Given the description of an element on the screen output the (x, y) to click on. 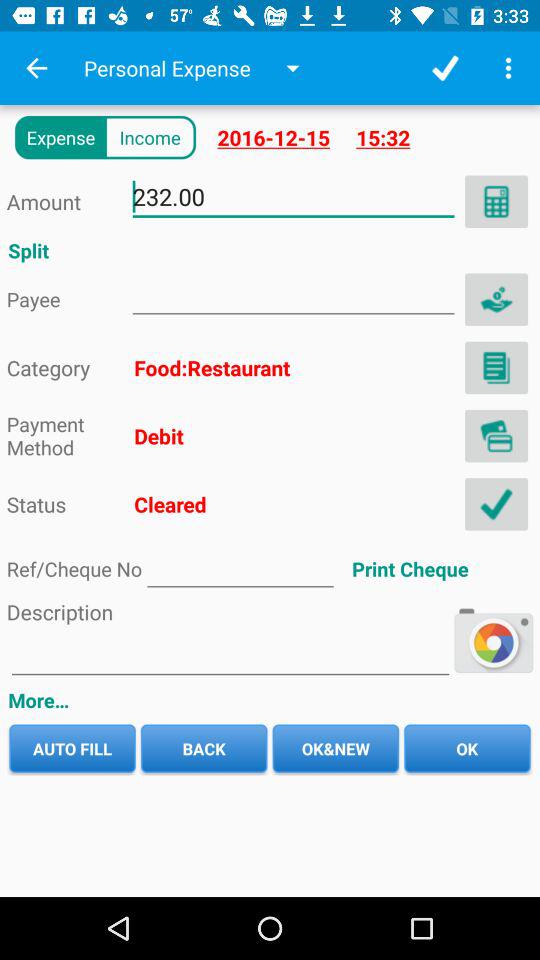
debit card image (496, 436)
